Given the description of an element on the screen output the (x, y) to click on. 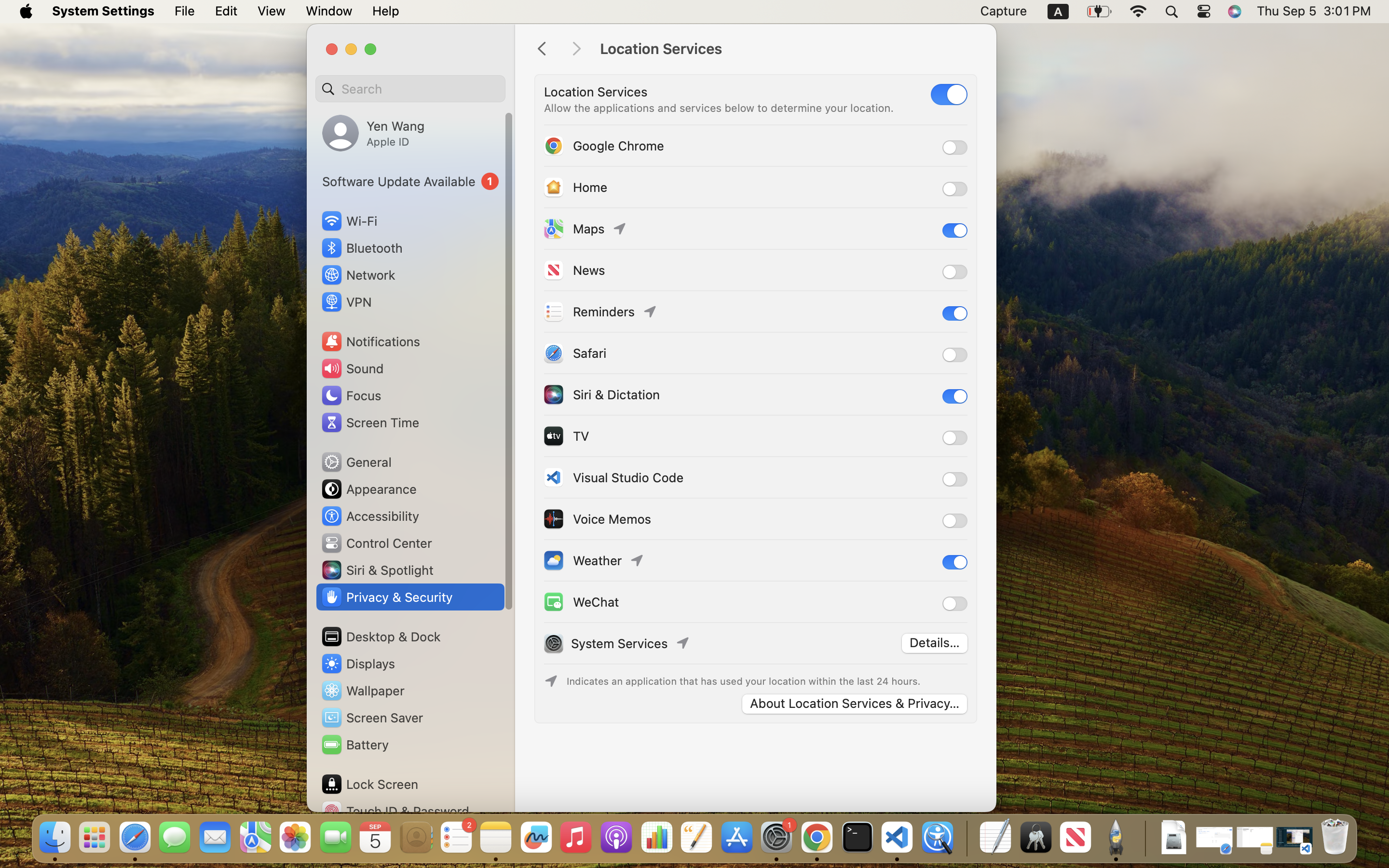
Battery Element type: AXStaticText (354, 744)
Voice Memos Element type: AXStaticText (596, 518)
System Services Element type: AXStaticText (619, 643)
News Element type: AXStaticText (573, 269)
